Given the description of an element on the screen output the (x, y) to click on. 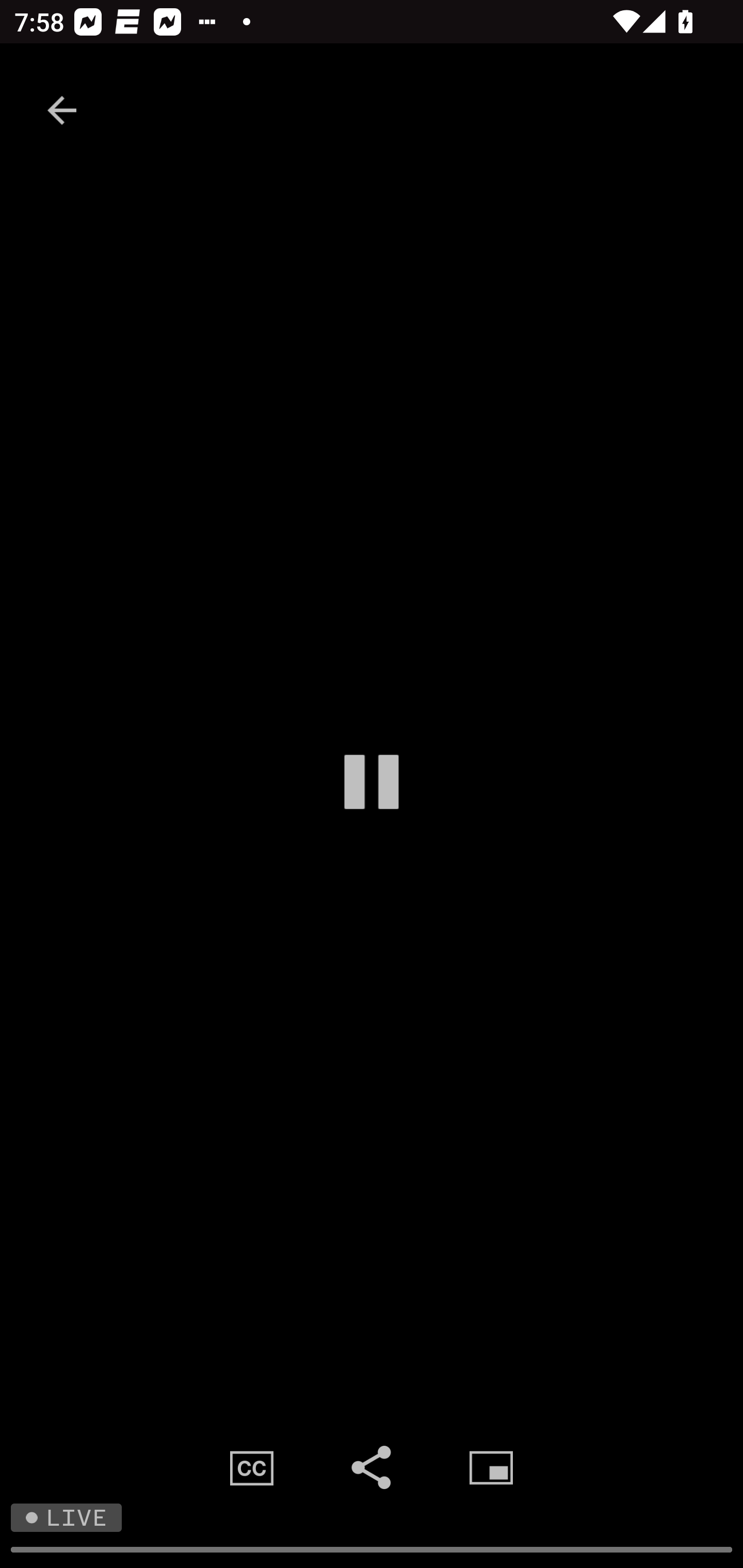
Back (61, 110)
Pause (371, 781)
Closed Captions, ON (251, 1467)
Share Media (371, 1467)
Picture in Picture Media (490, 1467)
